Given the description of an element on the screen output the (x, y) to click on. 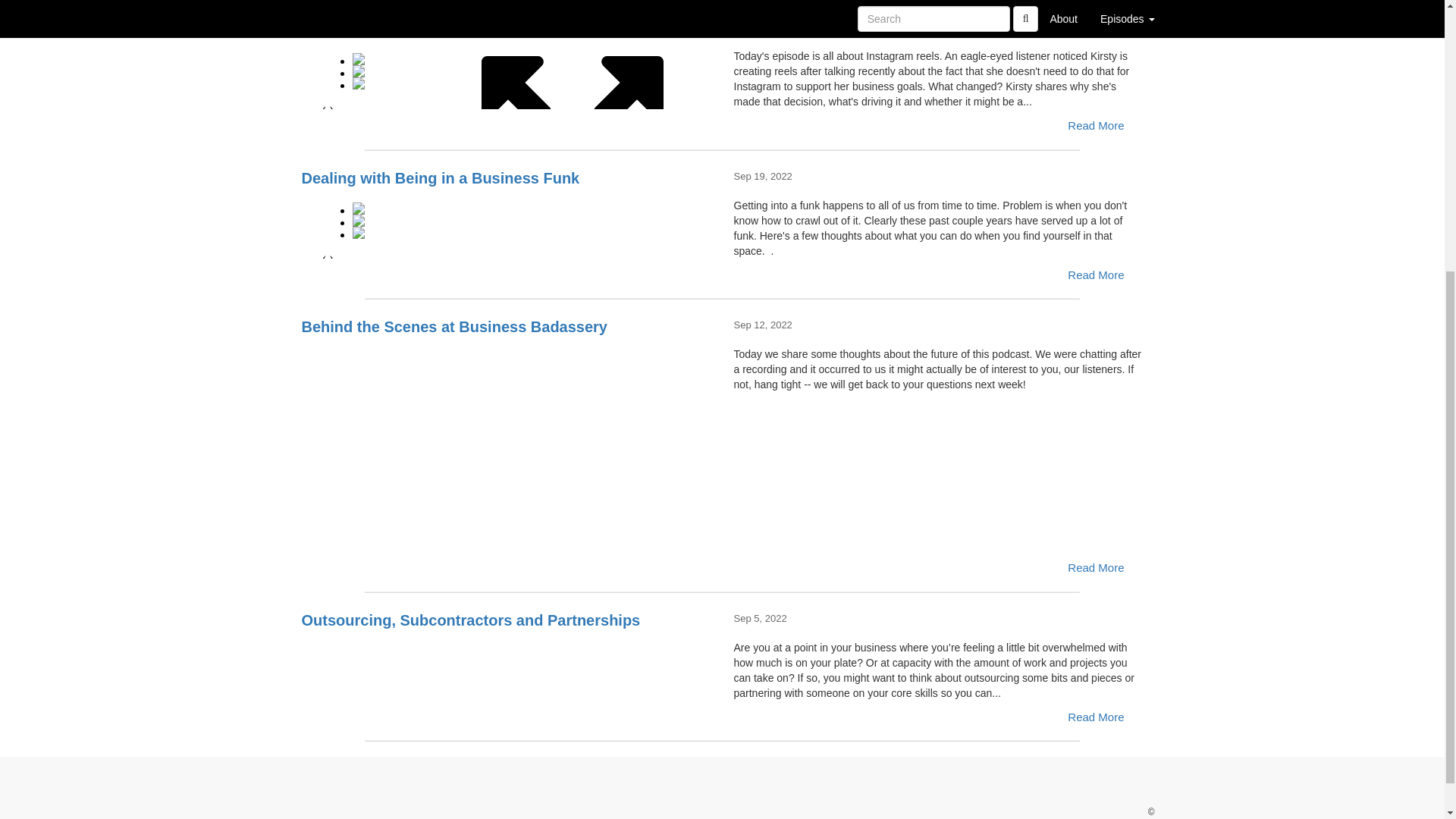
Dealing with Being in a Business Funk (506, 224)
Behind the Scenes at Business Badassery (506, 373)
To Reel or Not to Reel? (506, 74)
Outsourcing, Subcontractors and Partnerships (506, 666)
